Given the description of an element on the screen output the (x, y) to click on. 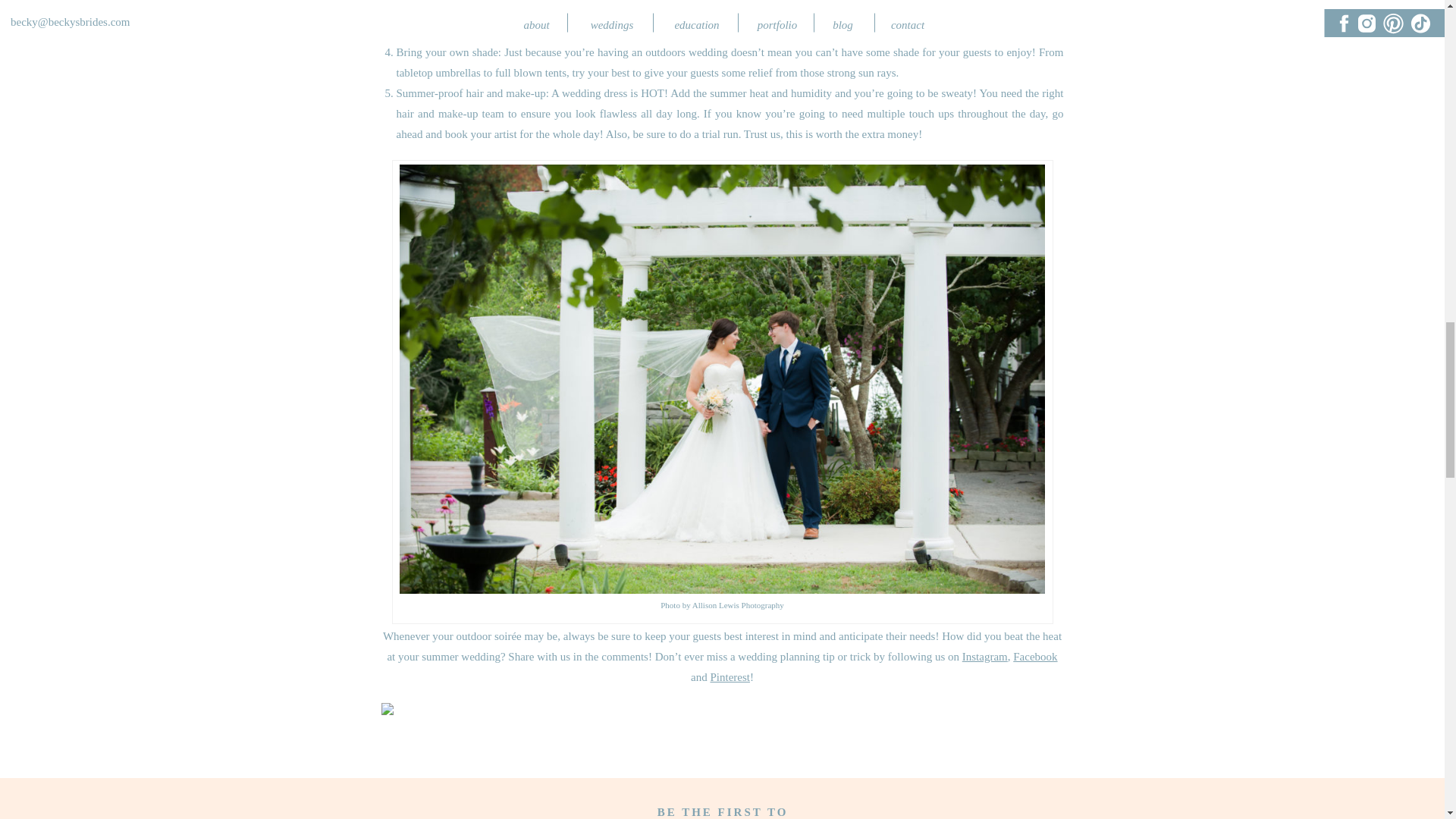
Pinterest (729, 676)
Instagram (984, 656)
Facebook (1035, 656)
BE THE FIRST TO COMMENT (723, 812)
